Given the description of an element on the screen output the (x, y) to click on. 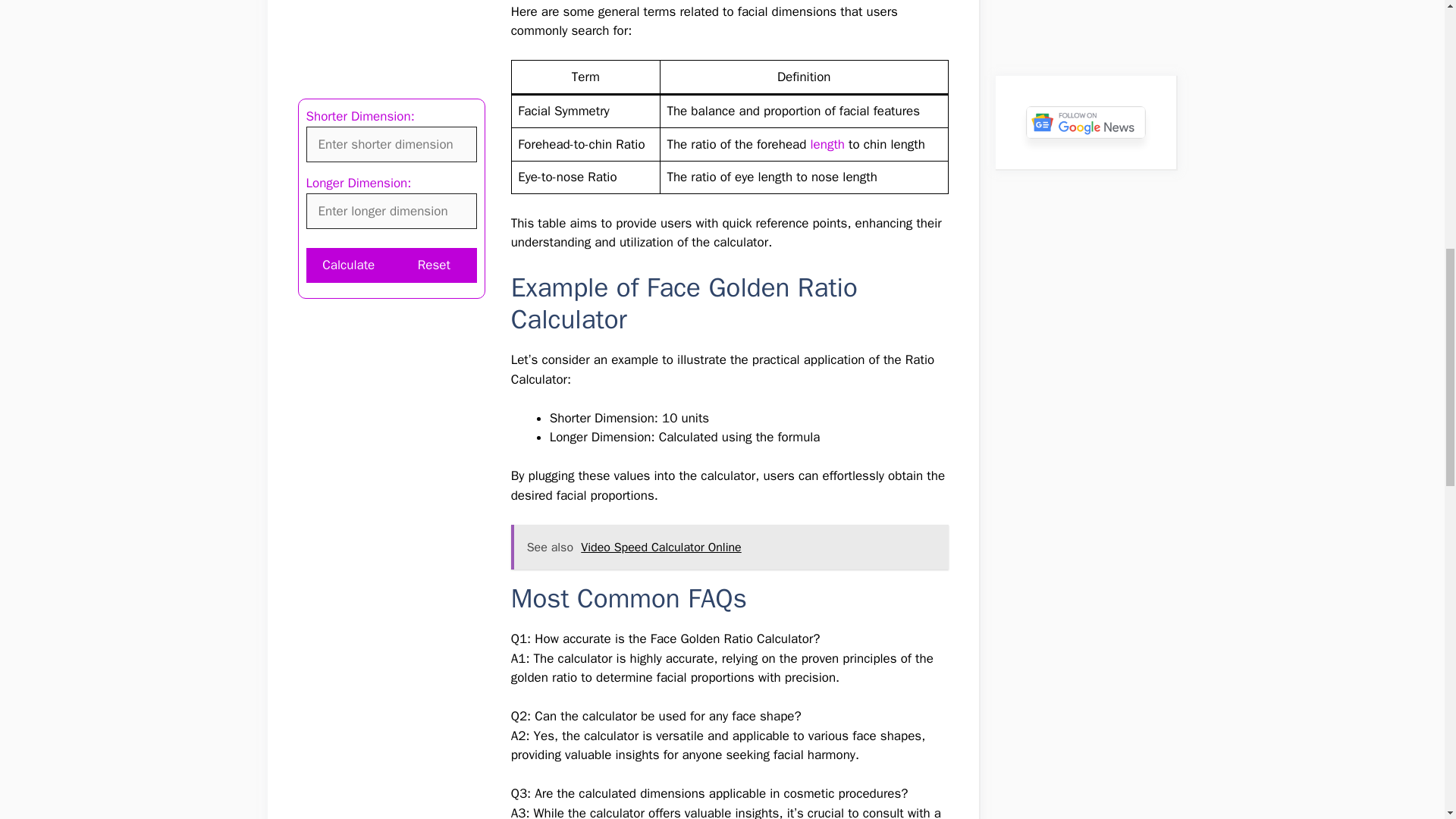
length (827, 144)
See also  Video Speed Calculator Online (730, 547)
